Given the description of an element on the screen output the (x, y) to click on. 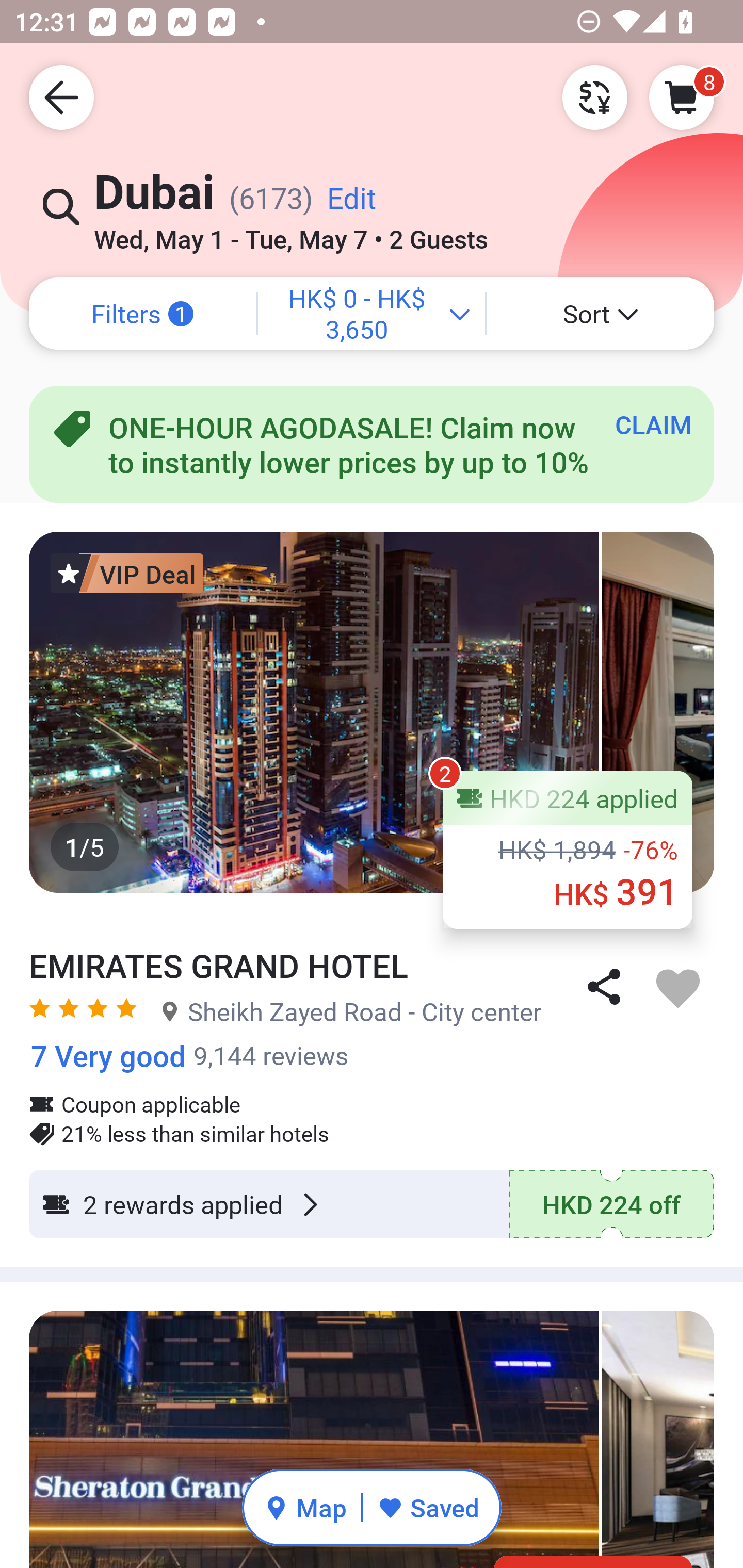
Wed, May 1 - Tue, May 7 • 2 Guests (290, 232)
Filters 1 (141, 313)
⁦HK$ 0⁩ - ⁦HK$ 3,650⁩ (371, 313)
Sort (600, 313)
CLAIM (653, 424)
VIP Deal (126, 572)
1/5 (371, 711)
HKD 224 applied ‪HK$ 1,894 -76% ‪HK$ 391 2 (567, 849)
2 rewards applied HKD 224 off (371, 1204)
Map (305, 1507)
Saved (428, 1507)
